Given the description of an element on the screen output the (x, y) to click on. 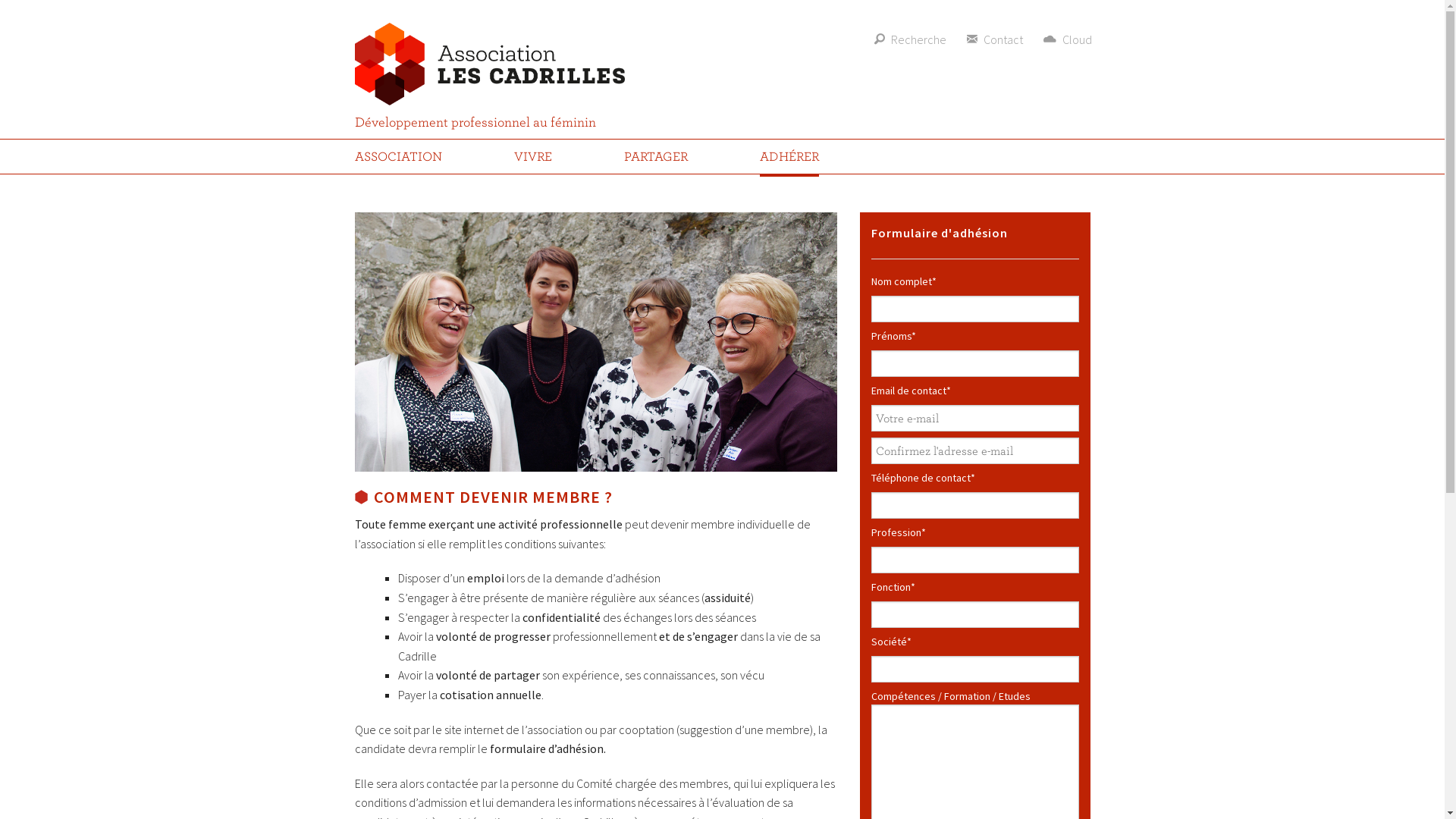
Contact Element type: text (996, 39)
VIVRE Element type: text (533, 156)
ASSOCIATION Element type: text (398, 156)
Cloud Element type: text (1069, 39)
Recherche Element type: text (911, 39)
PARTAGER Element type: text (655, 156)
